Given the description of an element on the screen output the (x, y) to click on. 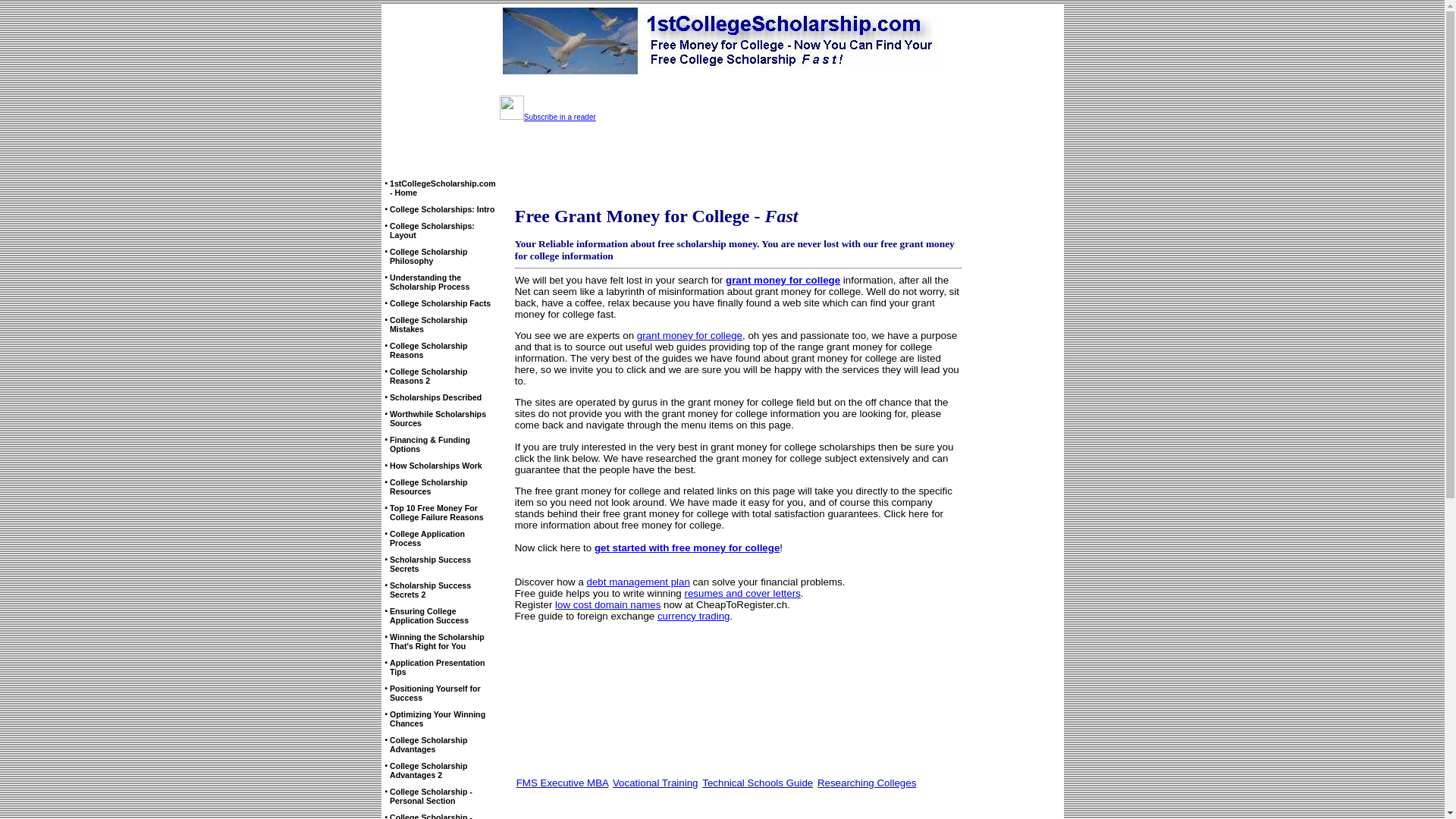
debt management plan Element type: text (638, 581)
College Scholarships: Layout Element type: text (431, 230)
1stCollegeScholarship.com - Home Element type: text (442, 187)
College Scholarships: Intro Element type: text (442, 208)
Application Presentation Tips Element type: text (437, 667)
Vocational Training Element type: text (655, 782)
get started with free money for college Element type: text (686, 547)
Winning the Scholarship That's Right for You Element type: text (436, 641)
low cost domain names Element type: text (607, 604)
resumes and cover letters Element type: text (742, 593)
College Application Process Element type: text (426, 538)
Subscribe in a reader Element type: text (547, 115)
College Scholarship Reasons Element type: text (428, 350)
Worthwhile Scholarships Sources Element type: text (437, 418)
College Scholarship Reasons 2 Element type: text (428, 376)
Technical Schools Guide Element type: text (757, 782)
Optimizing Your Winning Chances Element type: text (437, 718)
How Scholarships Work Element type: text (435, 465)
College Scholarship Advantages 2 Element type: text (428, 770)
Financing & Funding Options Element type: text (429, 444)
Scholarship Success Secrets Element type: text (429, 564)
Scholarship Success Secrets 2 Element type: text (429, 589)
currency trading Element type: text (693, 615)
Researching Colleges Element type: text (866, 782)
College Scholarship - Personal Section Element type: text (430, 796)
Money For College Scholarships Element type: hover (721, 40)
College Scholarship Philosophy Element type: text (428, 256)
Positioning Yourself for Success Element type: text (434, 693)
grant money for college Element type: text (782, 279)
College Scholarship Mistakes Element type: text (428, 324)
Understanding the Scholarship Process Element type: text (429, 282)
FMS Executive MBA Element type: text (562, 782)
College Scholarship Facts Element type: text (439, 302)
College Scholarship Resources Element type: text (428, 486)
College Scholarship Advantages Element type: text (428, 744)
Top 10 Free Money For College Failure Reasons Element type: text (436, 512)
grant money for college Element type: text (689, 335)
Ensuring College Application Success Element type: text (428, 615)
Scholarships Described Element type: text (435, 396)
